Given the description of an element on the screen output the (x, y) to click on. 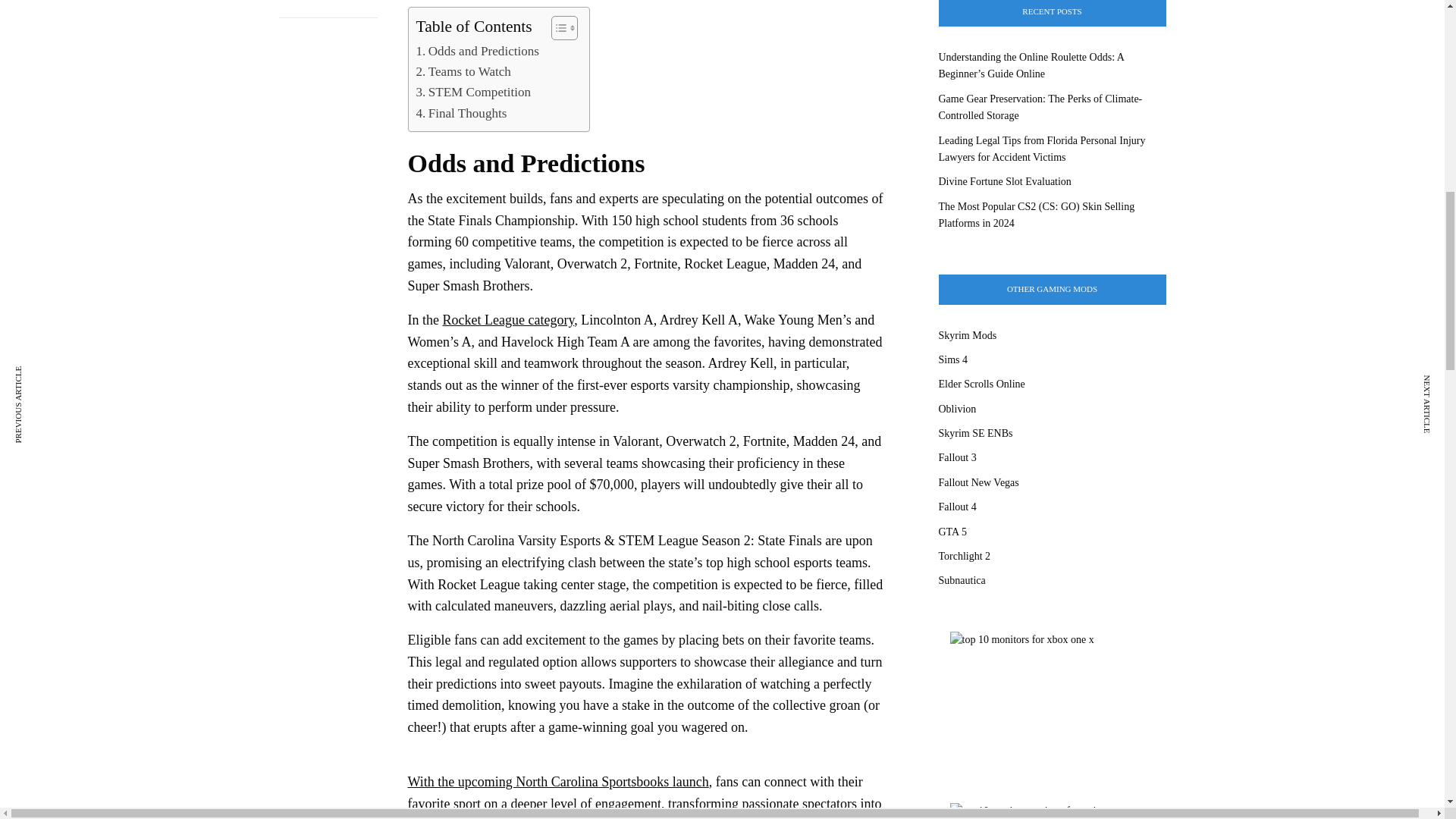
Final Thoughts (460, 113)
Odds and Predictions (476, 50)
Rocket League category (508, 319)
With the upcoming North Carolina Sportsbooks launch (558, 781)
Teams to Watch (462, 71)
Divine Fortune Slot Evaluation (1005, 181)
STEM Competition (472, 91)
Odds and Predictions (476, 50)
Teams to Watch (462, 71)
Final Thoughts (460, 113)
